Given the description of an element on the screen output the (x, y) to click on. 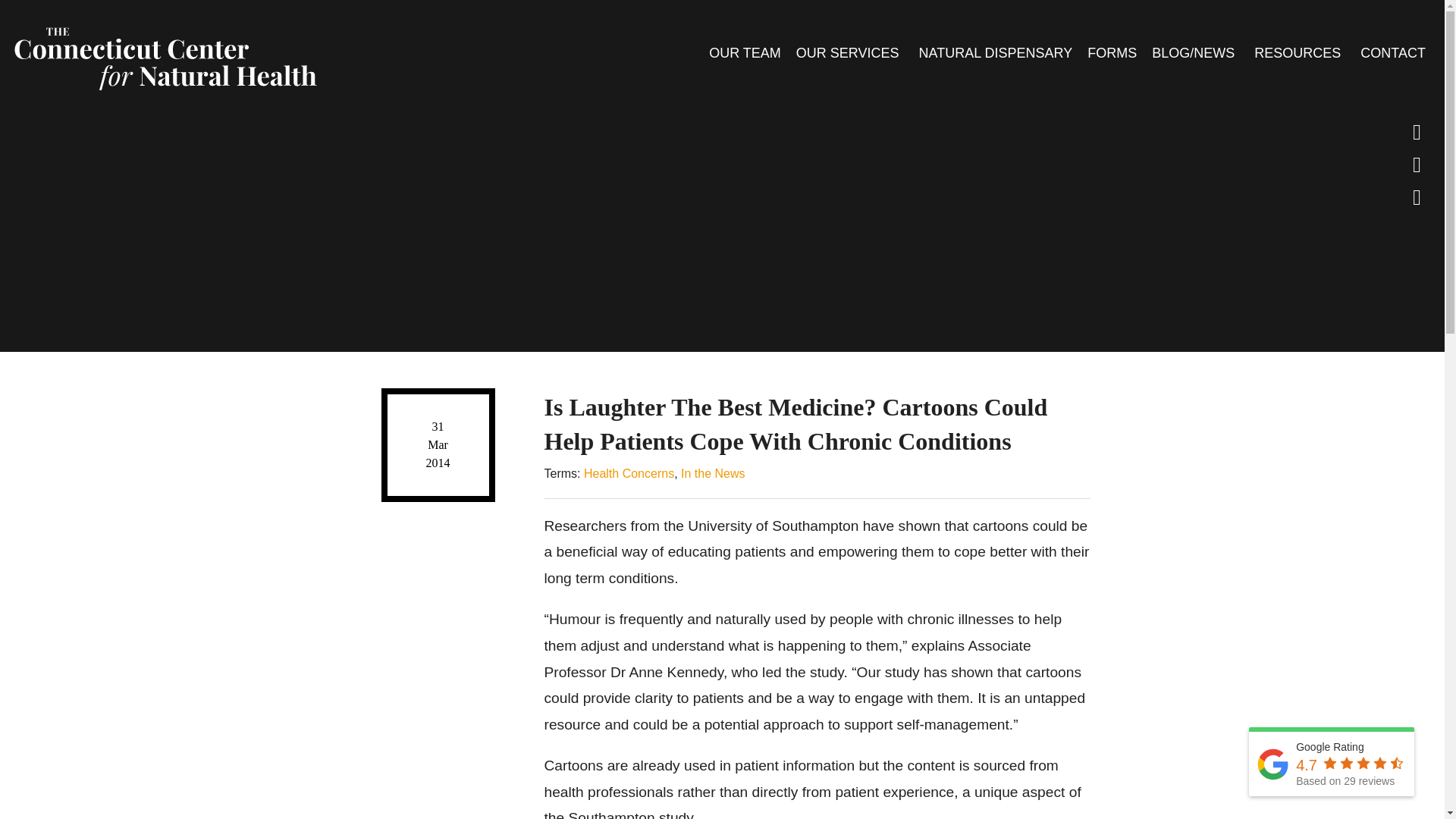
The Connecticut Center for Natural Health (164, 54)
OUR SERVICES (850, 52)
OUR TEAM (745, 52)
RESOURCES (1299, 52)
In the News (712, 472)
Health Concerns (628, 472)
NATURAL DISPENSARY (995, 52)
FORMS (1112, 52)
CONTACT (1392, 52)
